Given the description of an element on the screen output the (x, y) to click on. 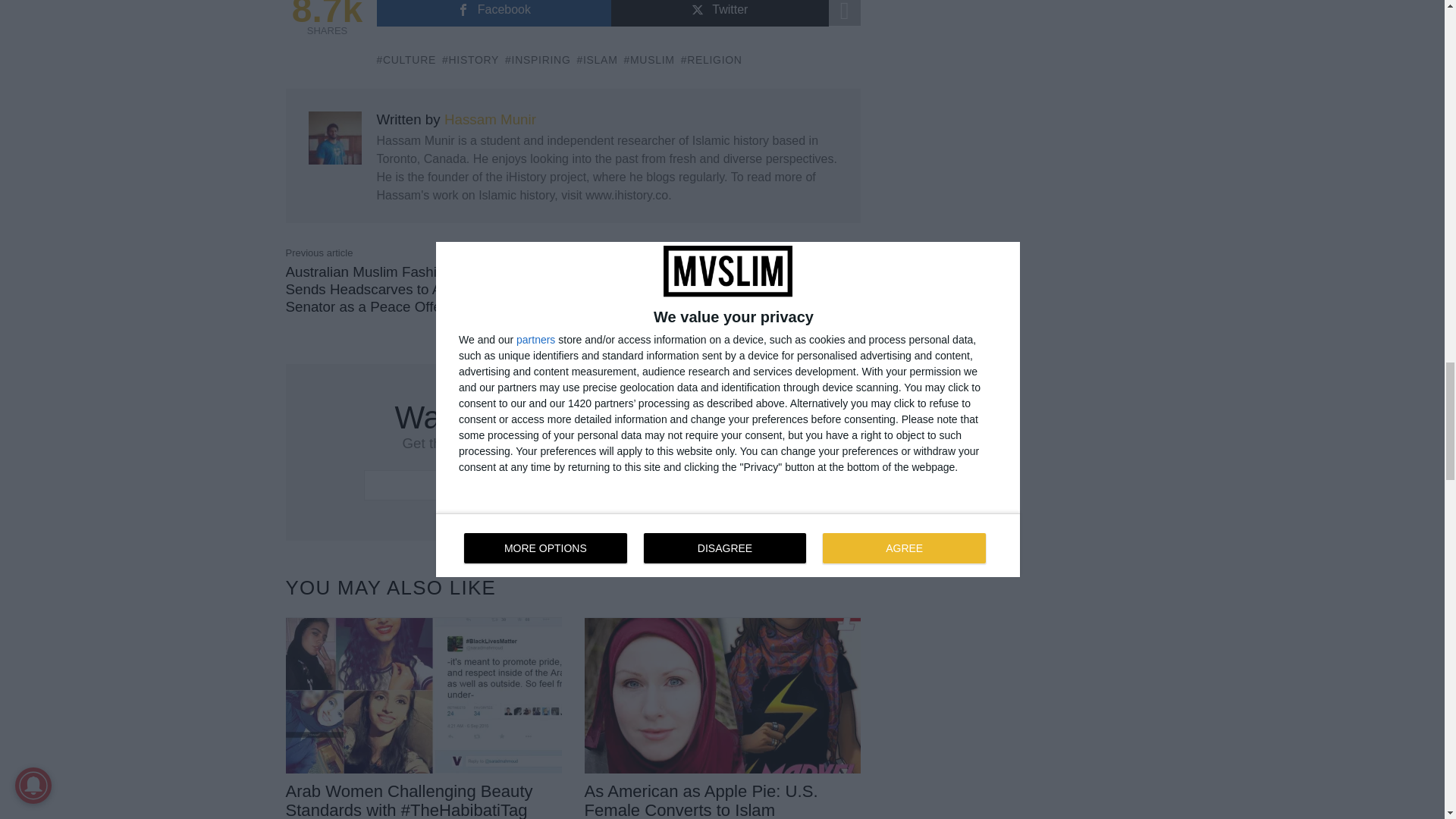
Twitter (719, 13)
Sign up (741, 485)
Facebook (493, 13)
